Given the description of an element on the screen output the (x, y) to click on. 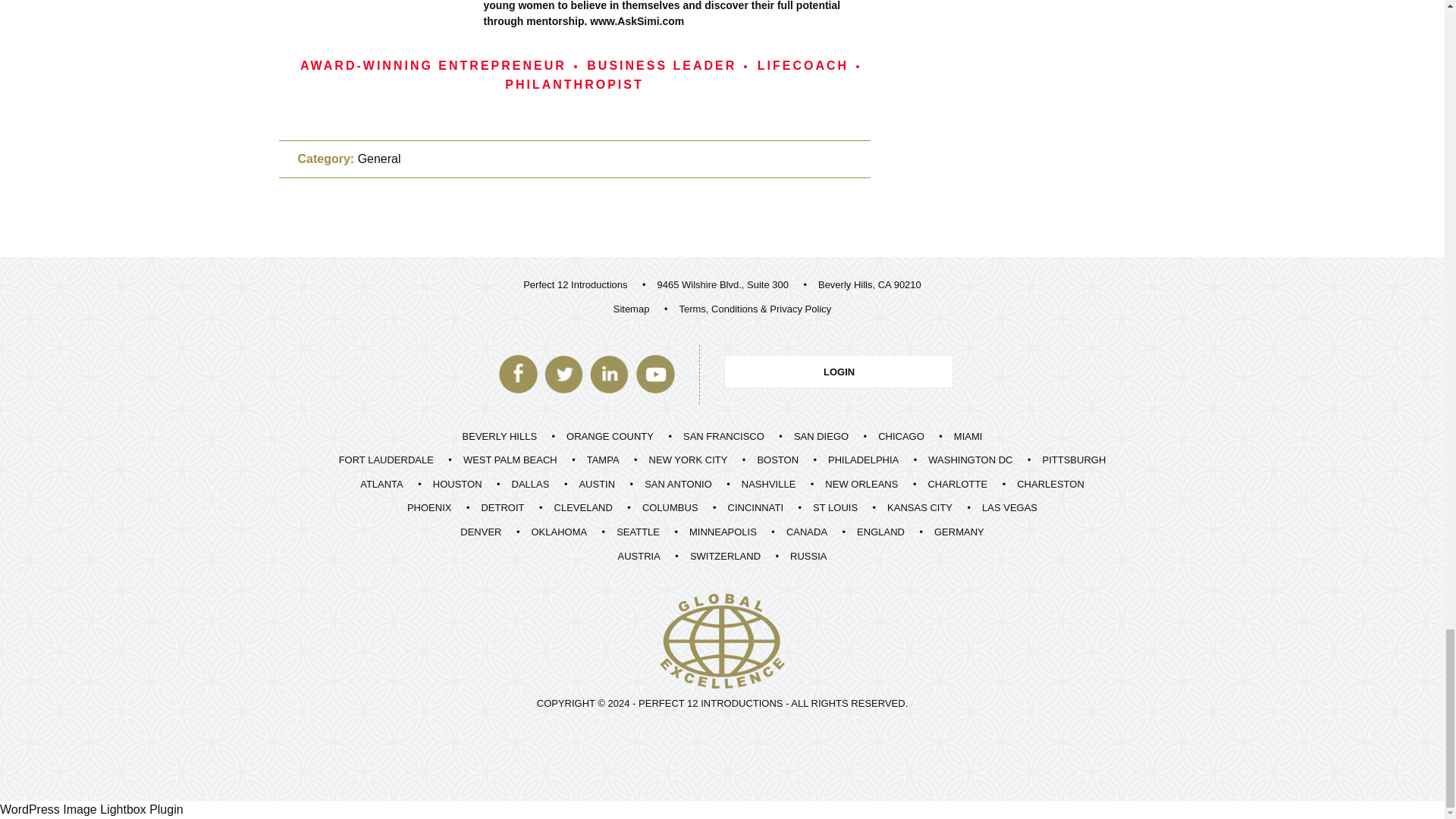
General (379, 158)
www.AskSimi.com (636, 21)
WordPress Image Lightbox Plugin (91, 809)
